Given the description of an element on the screen output the (x, y) to click on. 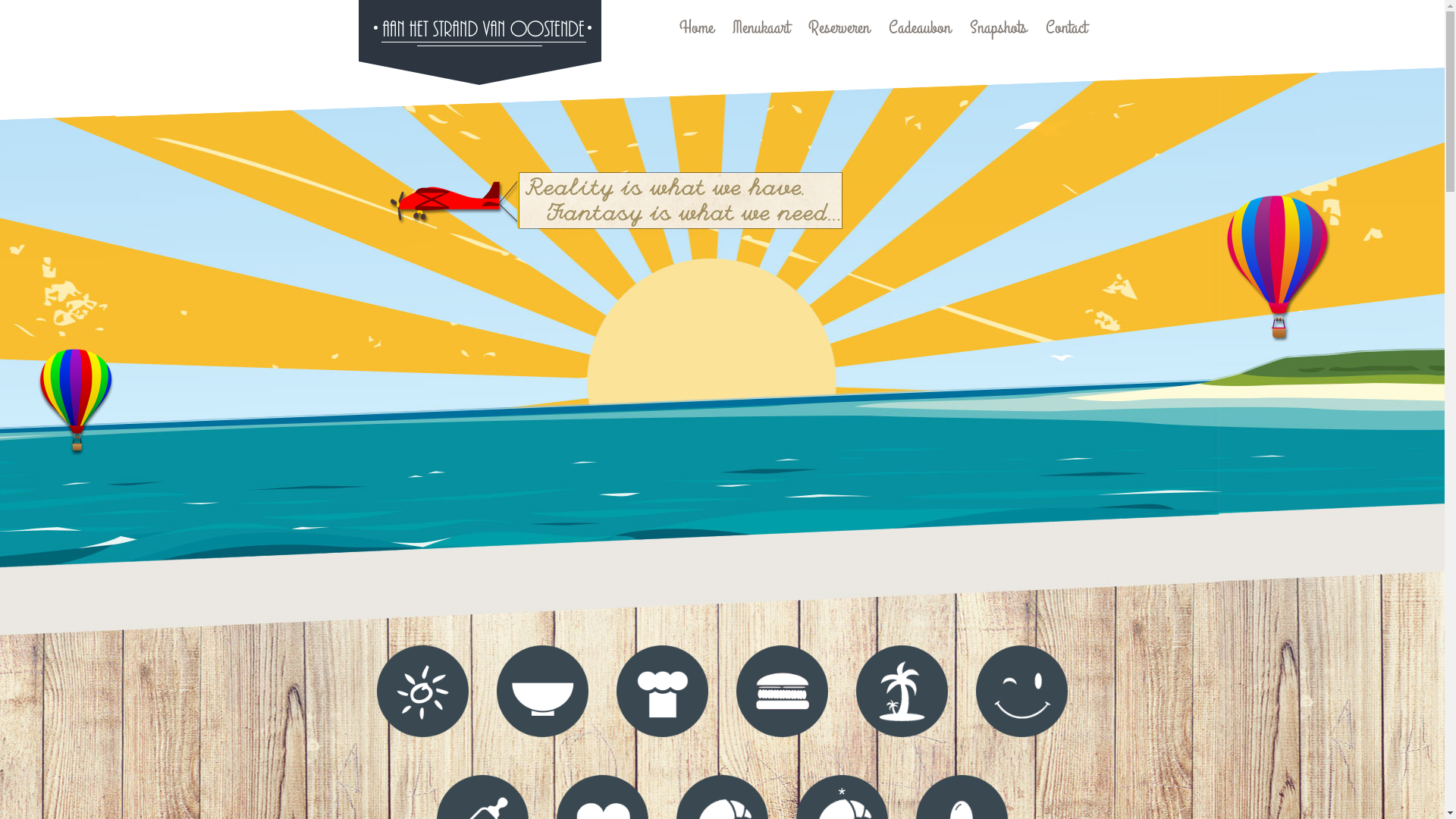
Cadeaubon Element type: text (919, 27)
Reserveren Element type: text (838, 27)
Snapshots Element type: text (997, 27)
Home Element type: text (696, 27)
Menukaart Element type: text (760, 27)
Contact Element type: text (1064, 27)
